Given the description of an element on the screen output the (x, y) to click on. 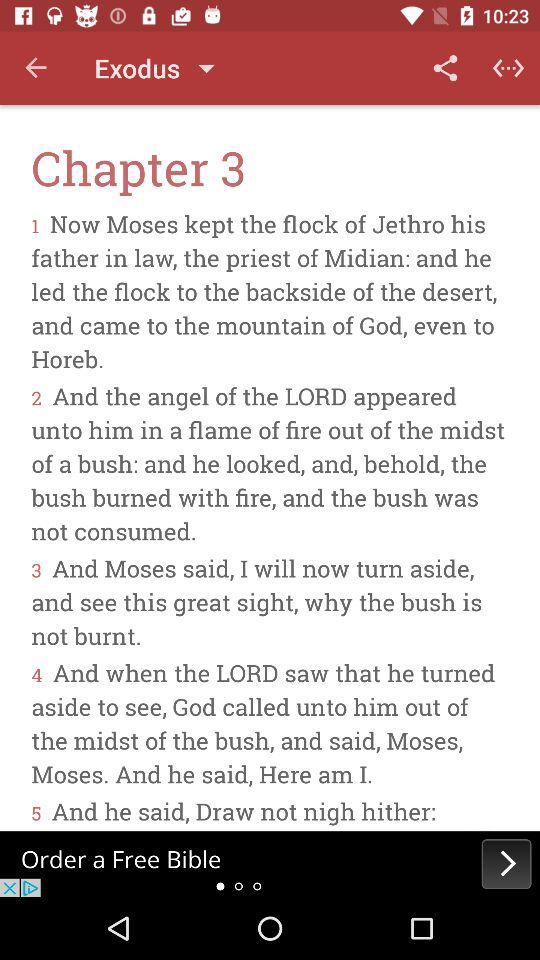
advertisement banner (270, 864)
